Given the description of an element on the screen output the (x, y) to click on. 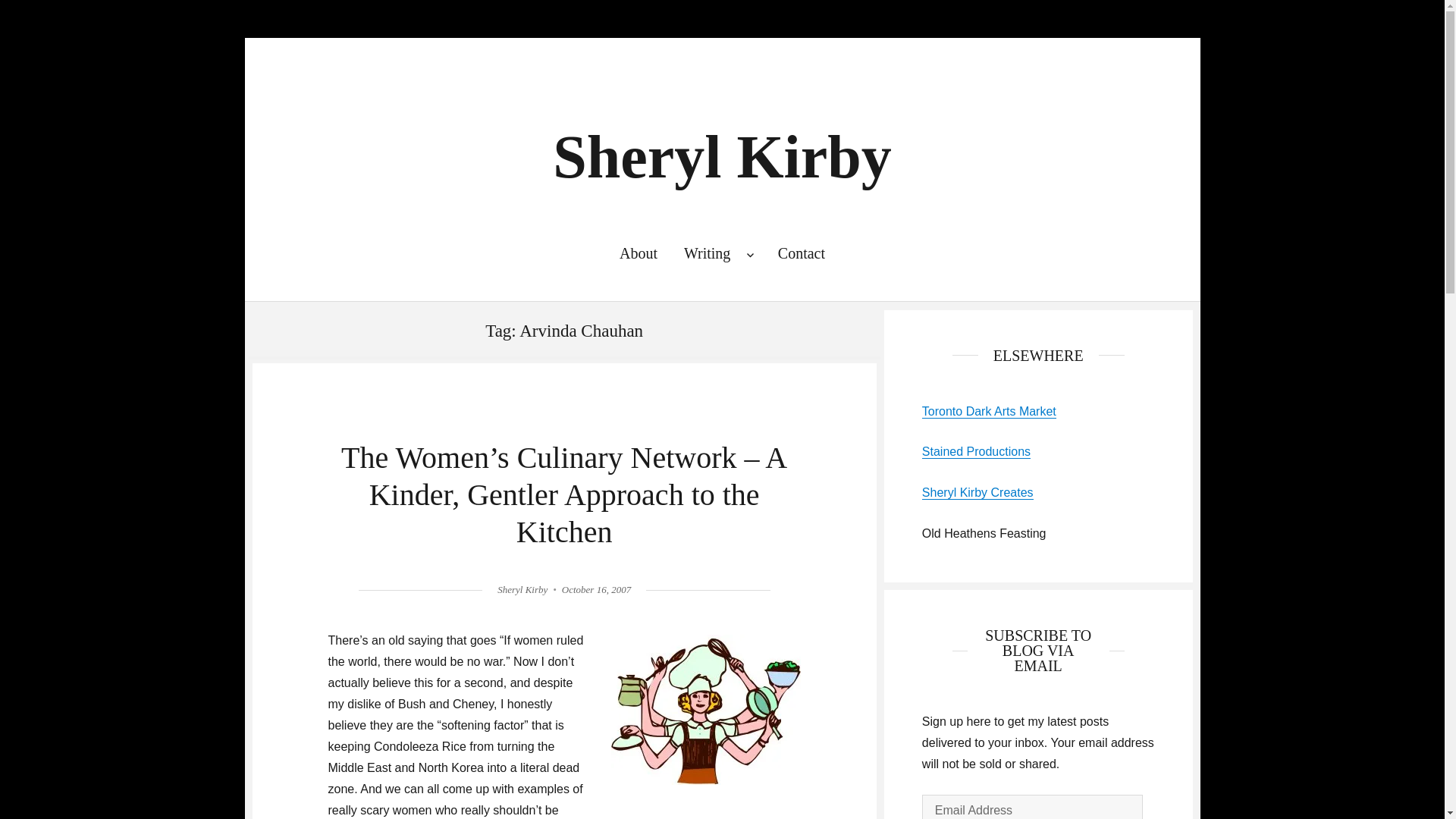
Contact (801, 253)
Sheryl Kirby (522, 589)
Sheryl Kirby (722, 156)
Writing (716, 253)
October 16, 2007 (596, 589)
About (637, 253)
